Given the description of an element on the screen output the (x, y) to click on. 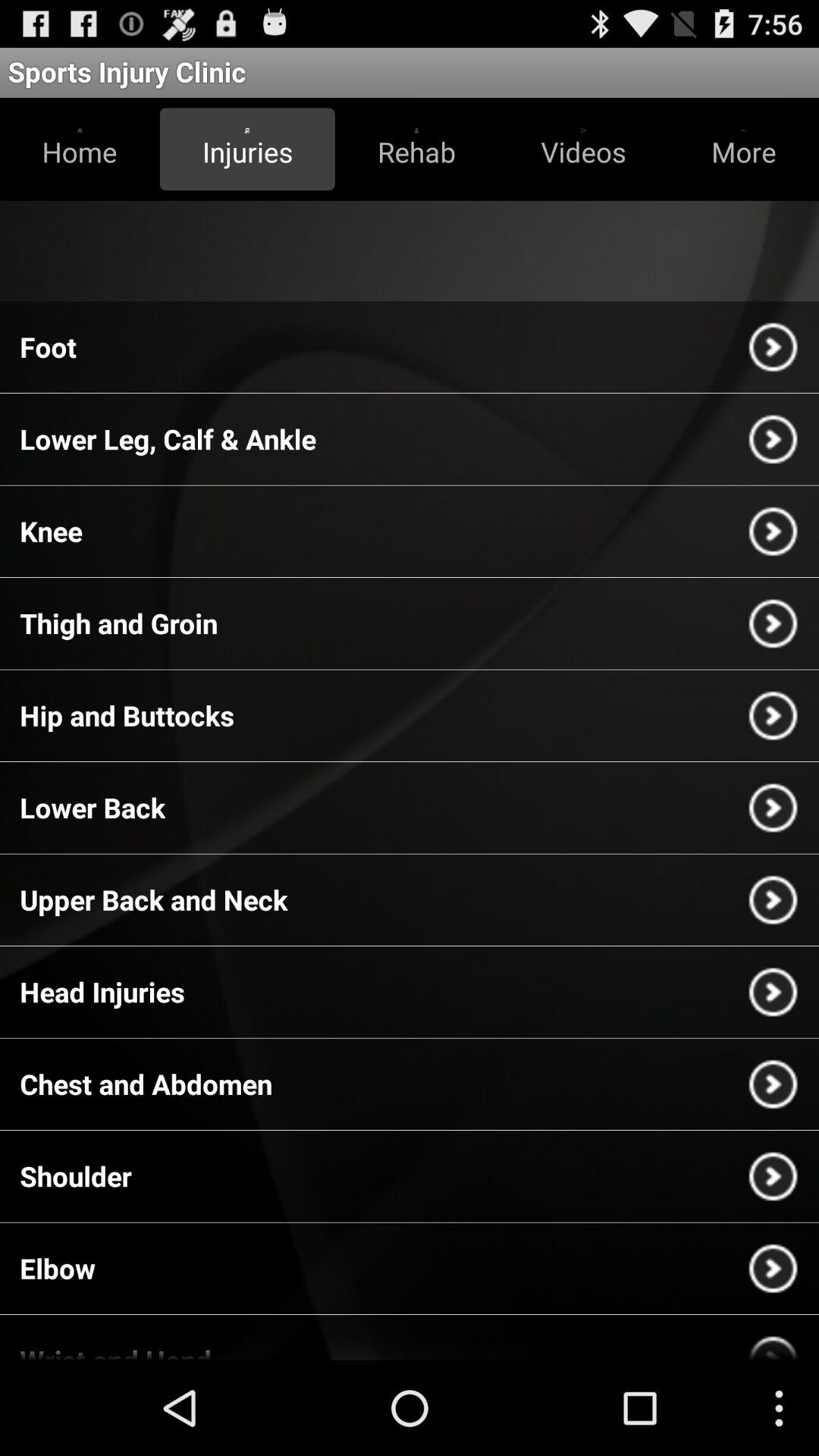
turn on item next to thigh and groin (773, 623)
